Given the description of an element on the screen output the (x, y) to click on. 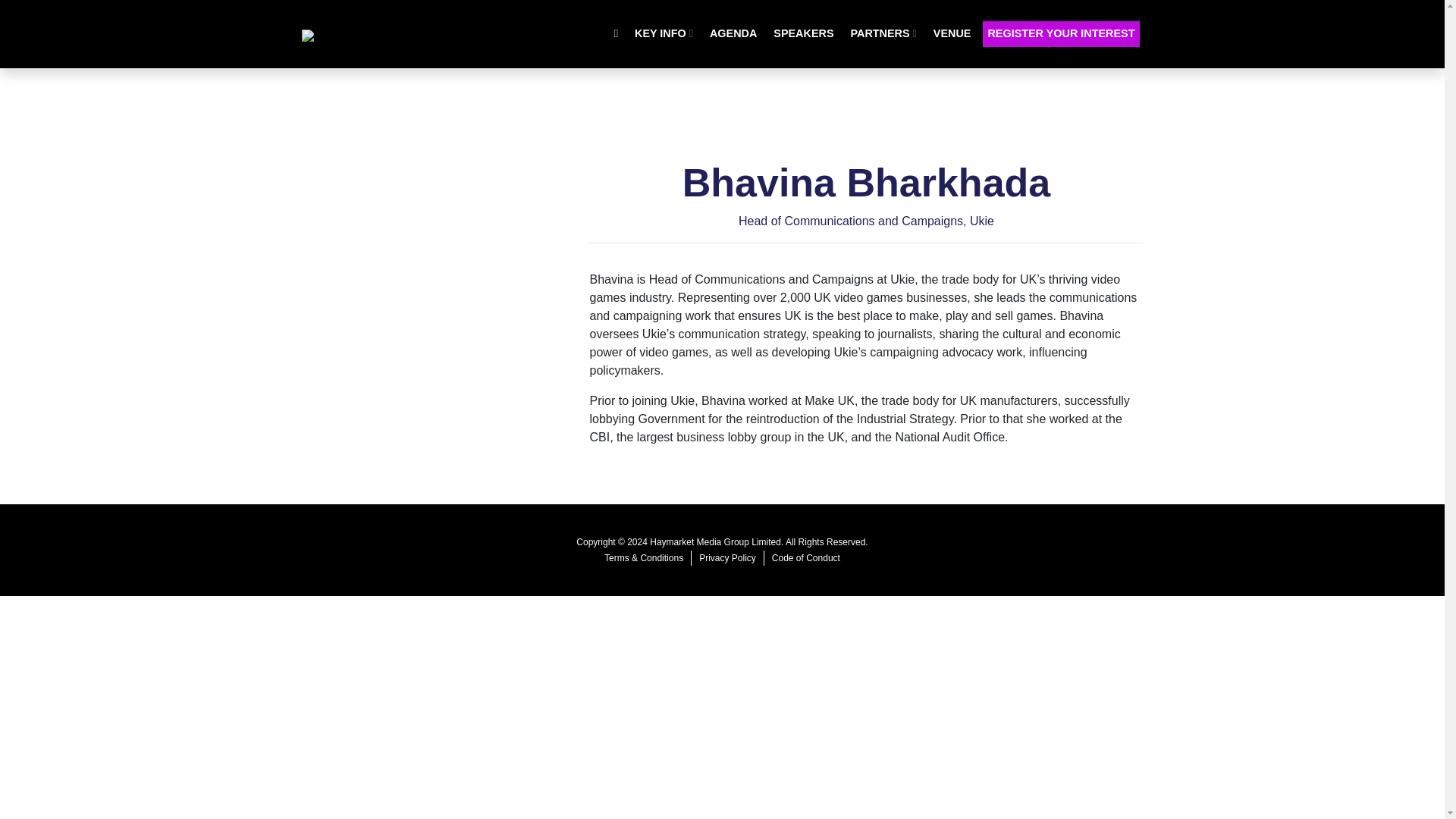
VENUE (951, 33)
Privacy Policy (726, 557)
AGENDA (732, 33)
VENUE (951, 33)
SPEAKERS (803, 33)
SPEAKERS (803, 33)
KEY INFO (663, 33)
Code of Conduct (804, 557)
REGISTER YOUR INTEREST (1060, 33)
PARTNERS (883, 33)
